Given the description of an element on the screen output the (x, y) to click on. 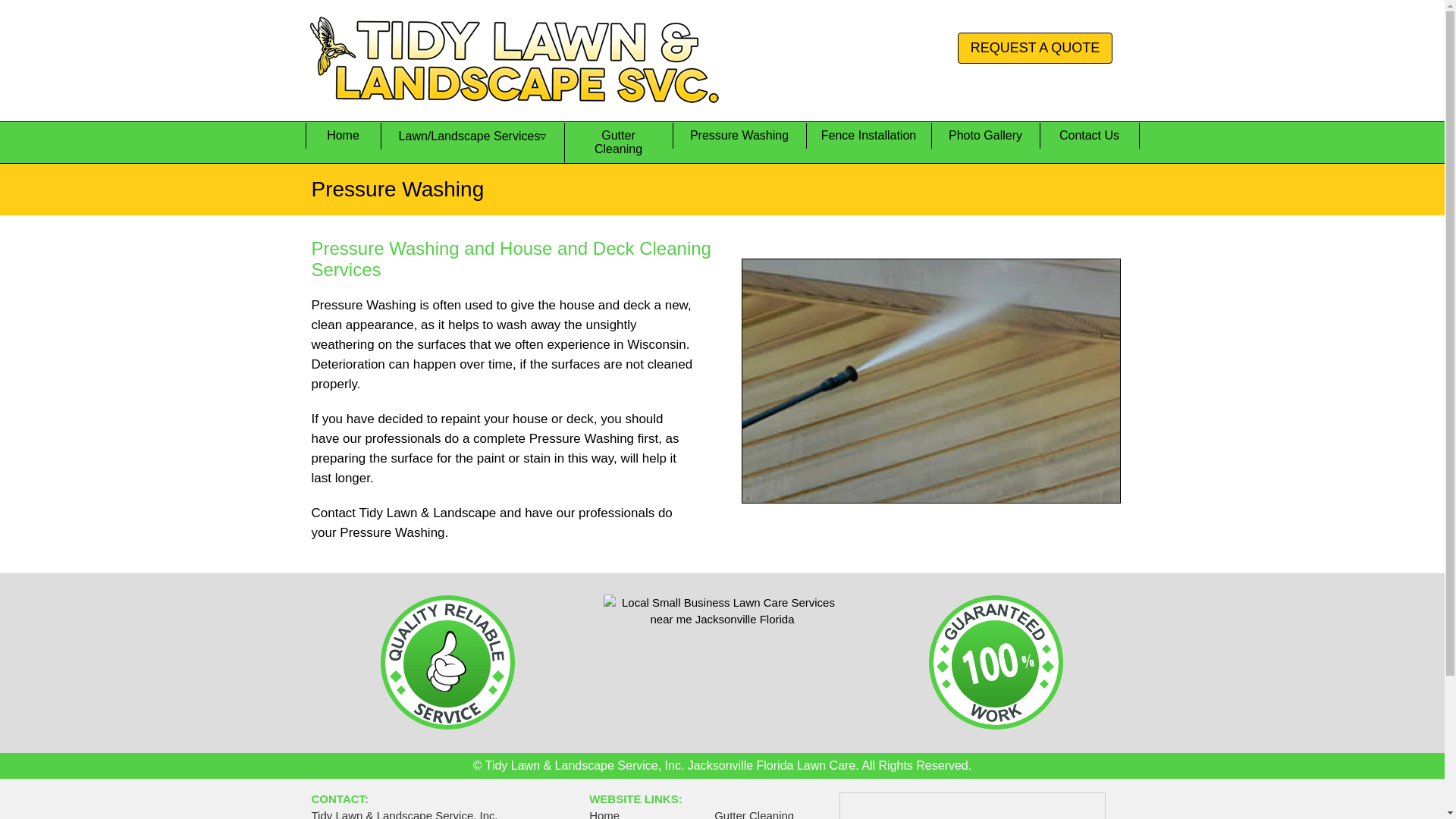
Pressure Washing (738, 135)
Home (342, 135)
Fence Installation (867, 135)
Jacksonville Gutter Cleaning Services (618, 142)
Lawn Care Service Photos (985, 135)
Jacksonville Pressure Washing (738, 135)
Gutter Cleaning (618, 142)
Tidy Lawn and Landscape Services Jacksonville FL (342, 135)
REQUEST A QUOTE (1035, 47)
Home (604, 814)
